Given the description of an element on the screen output the (x, y) to click on. 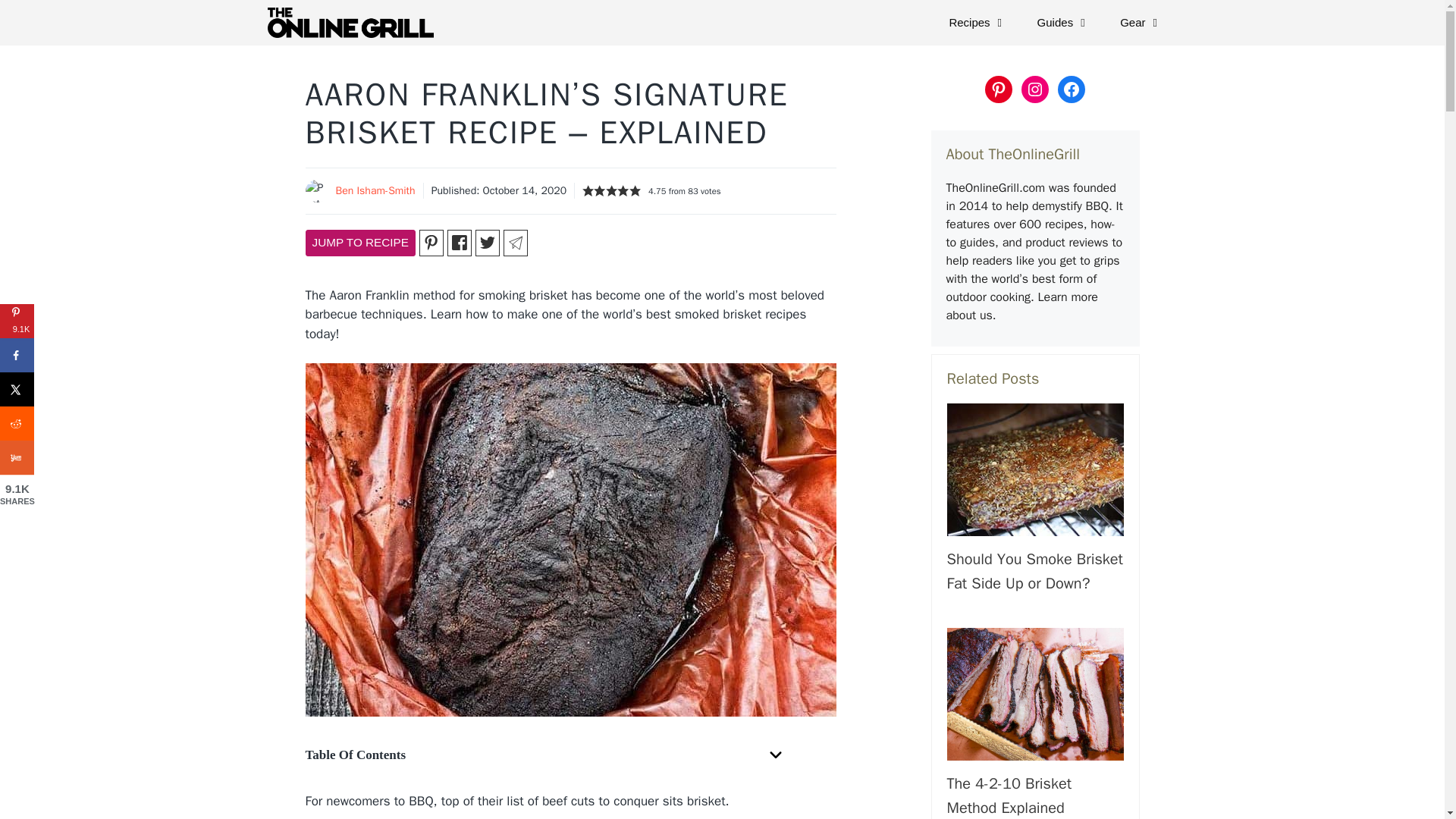
Share on Reddit (16, 423)
TheOnlineGrill.com (353, 22)
Share on X (16, 389)
Share on Yummly (16, 457)
Save to Pinterest (16, 320)
Share on Facebook (16, 355)
Recipes (977, 22)
TheOnlineGrill.com (349, 22)
